Given the description of an element on the screen output the (x, y) to click on. 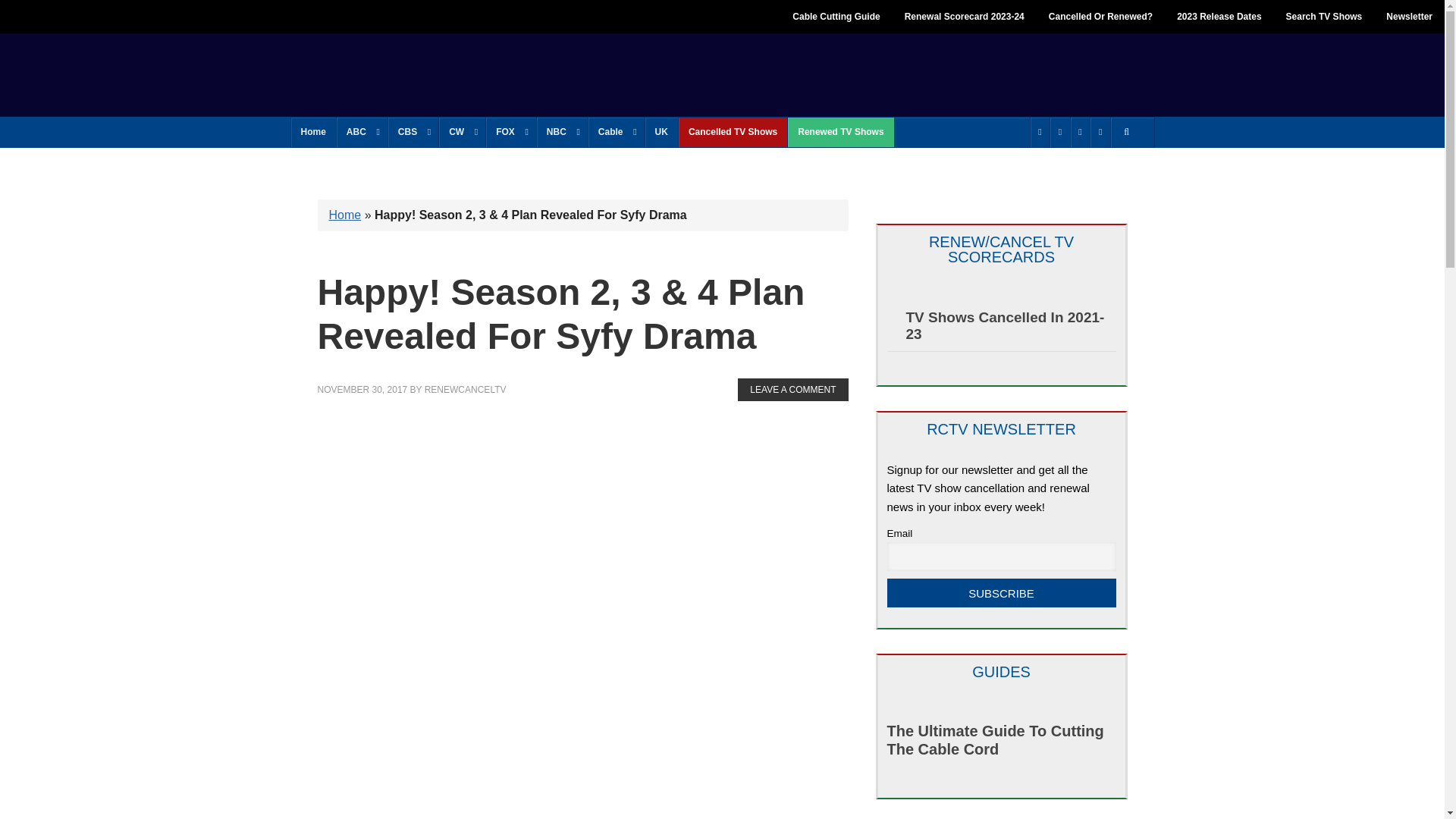
CBS (412, 132)
Cable Cutting Guide (835, 16)
Home (313, 132)
2023 Release Dates (1218, 16)
ABC (361, 132)
Cancelled Or Renewed? (1100, 16)
Search TV Shows (1324, 16)
RENEWCANCELTV (401, 73)
Subscribe (1001, 592)
Renewal Scorecard 2023-24 (964, 16)
